Given the description of an element on the screen output the (x, y) to click on. 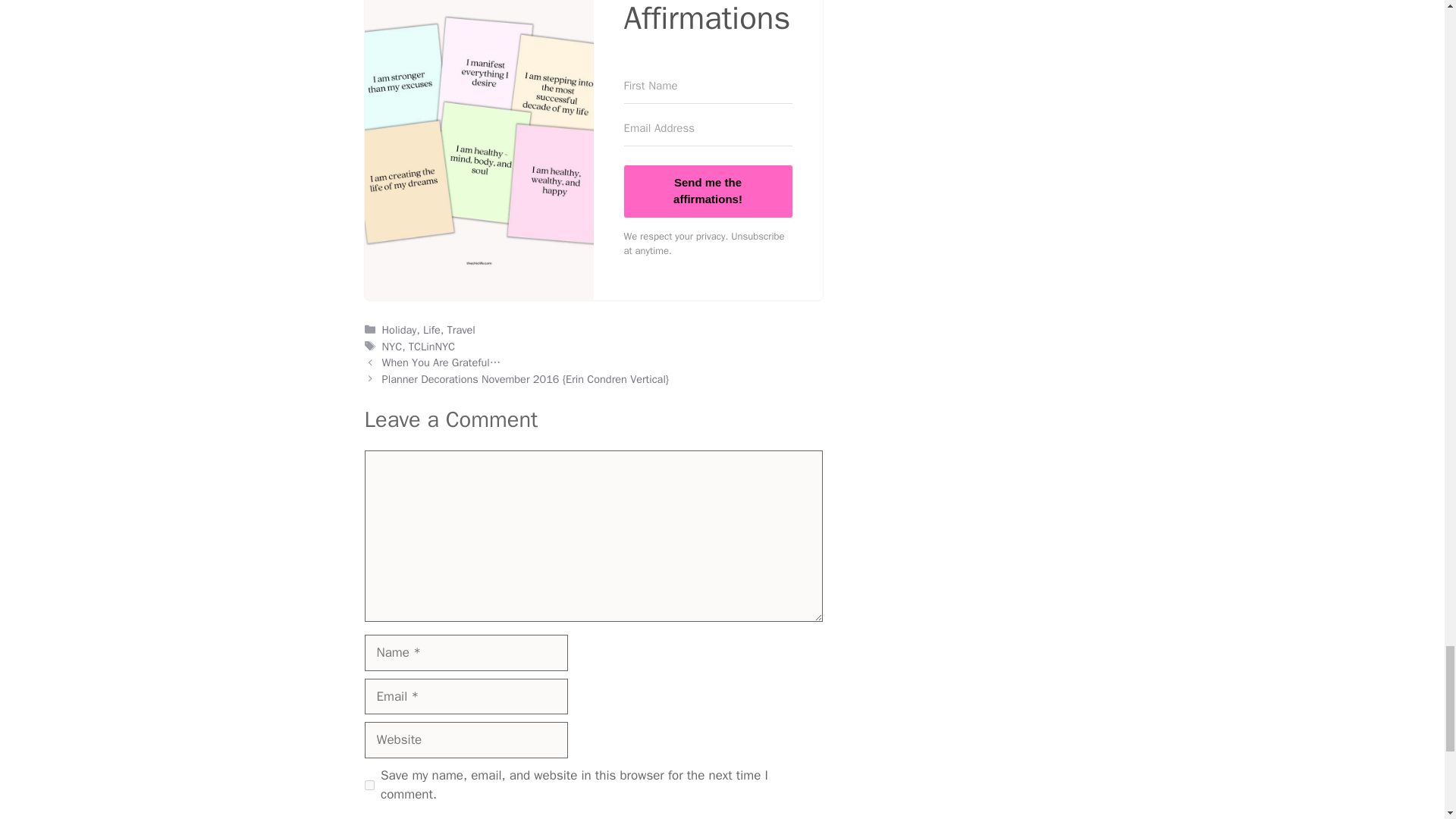
yes (369, 785)
